Given the description of an element on the screen output the (x, y) to click on. 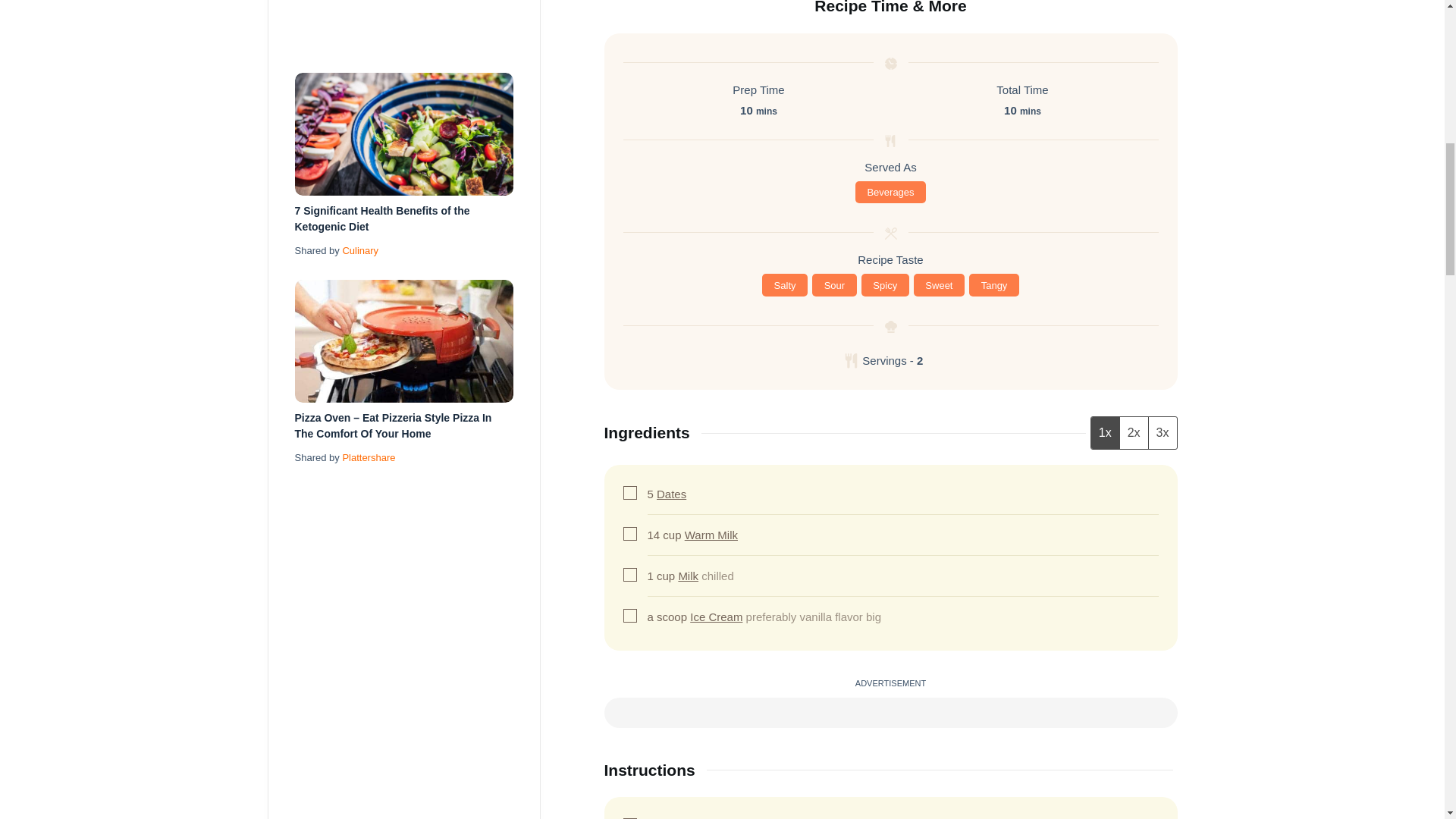
Sour (834, 284)
Spicy (884, 284)
Salty (784, 284)
Beverages (891, 191)
